Given the description of an element on the screen output the (x, y) to click on. 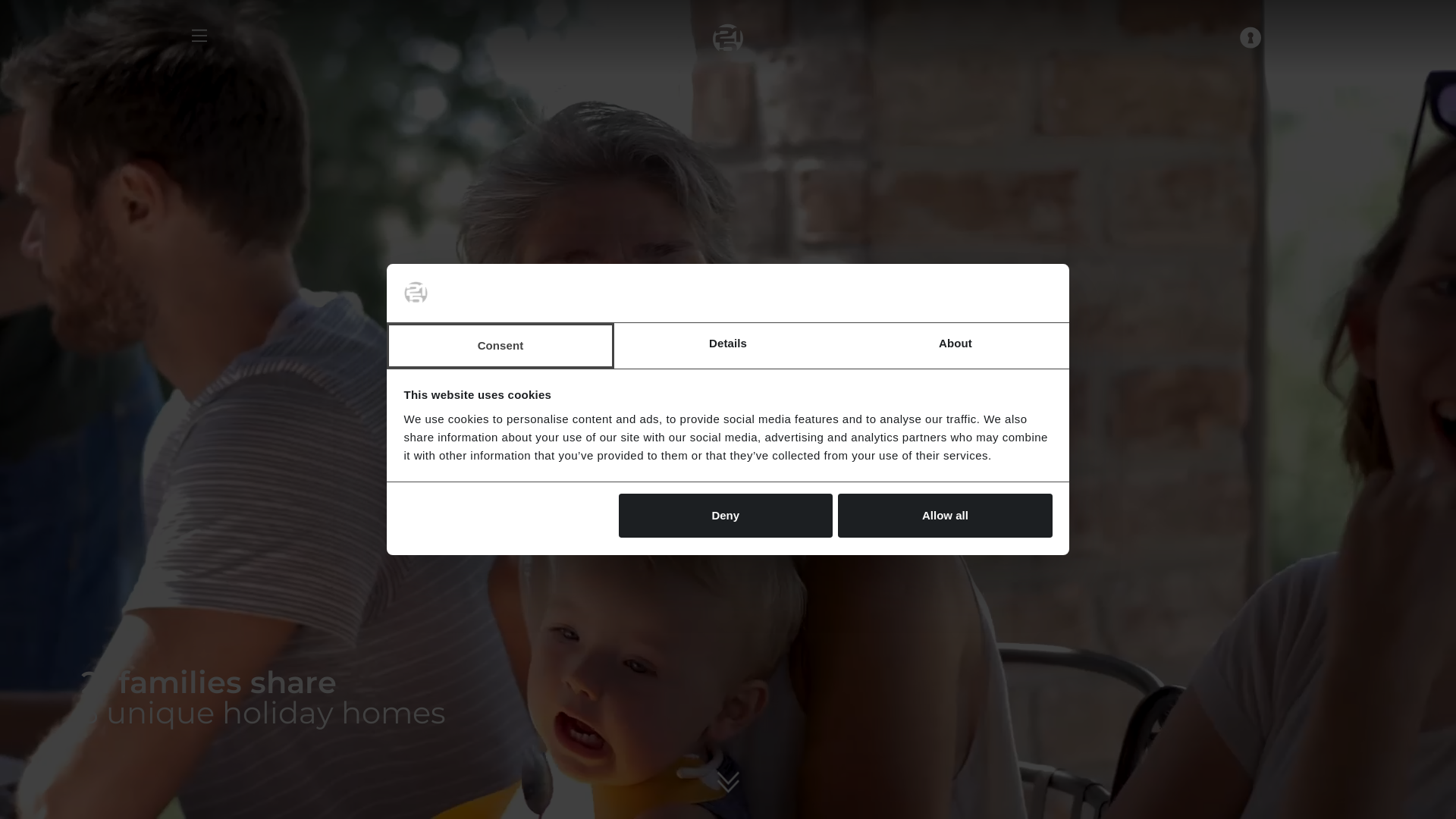
Details Element type: text (727, 345)
Deny Element type: text (725, 515)
Allow all Element type: text (944, 515)
Consent Element type: text (500, 345)
About Element type: text (955, 345)
